Given the description of an element on the screen output the (x, y) to click on. 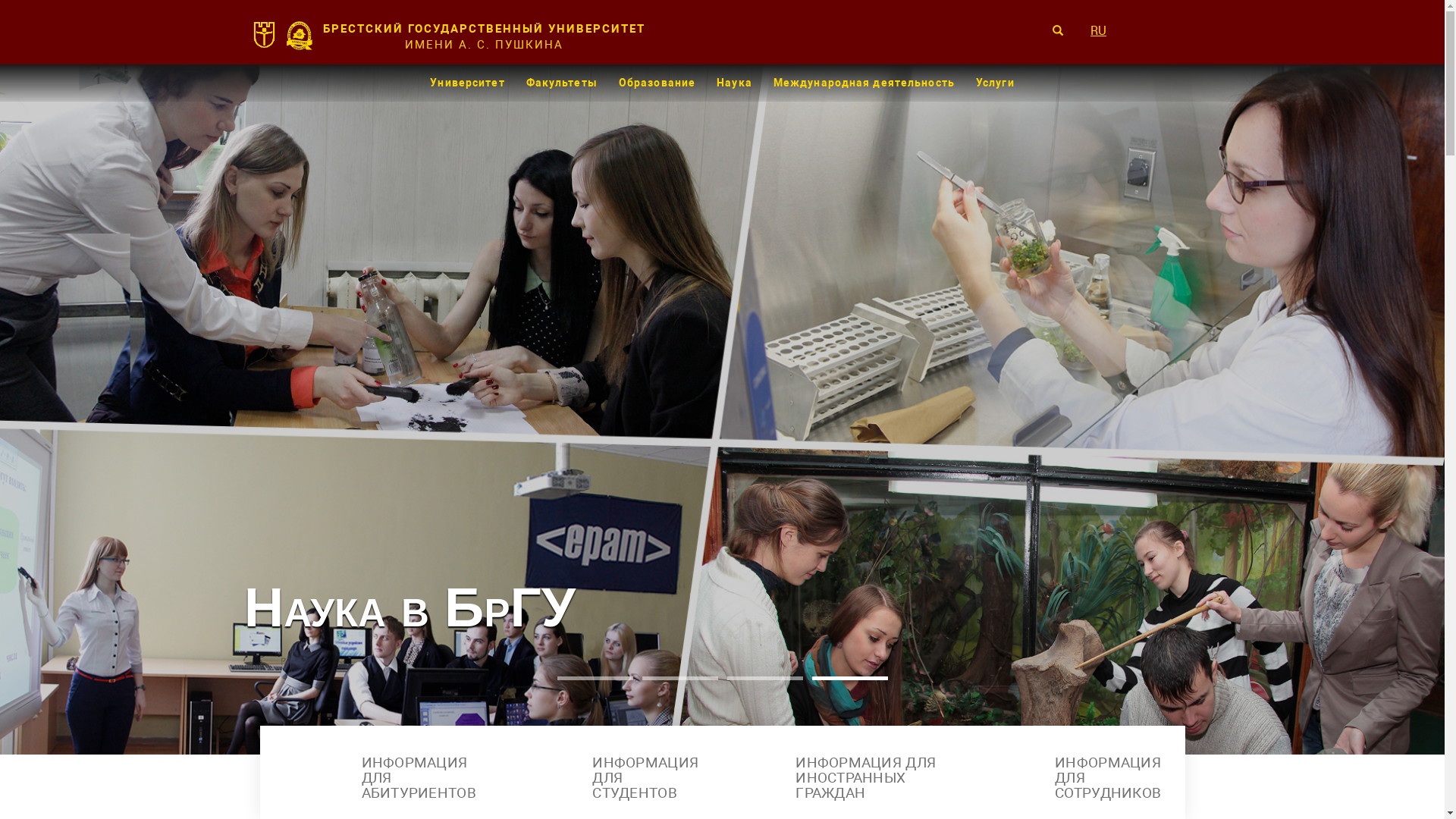
2 Element type: text (679, 678)
3 Element type: text (764, 678)
1 Element type: text (594, 678)
RU Element type: text (1105, 30)
4 Element type: text (849, 678)
